Given the description of an element on the screen output the (x, y) to click on. 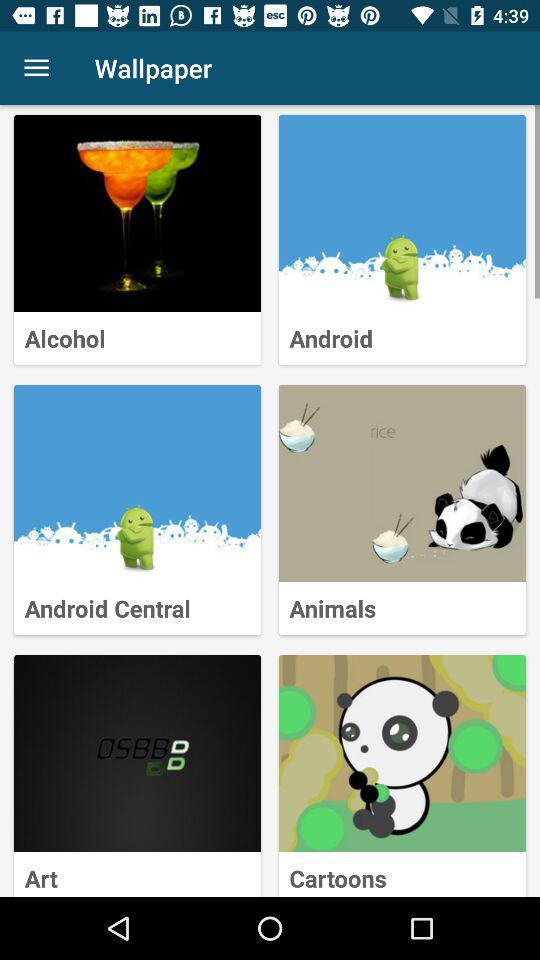
look at android wallpapers (402, 213)
